Given the description of an element on the screen output the (x, y) to click on. 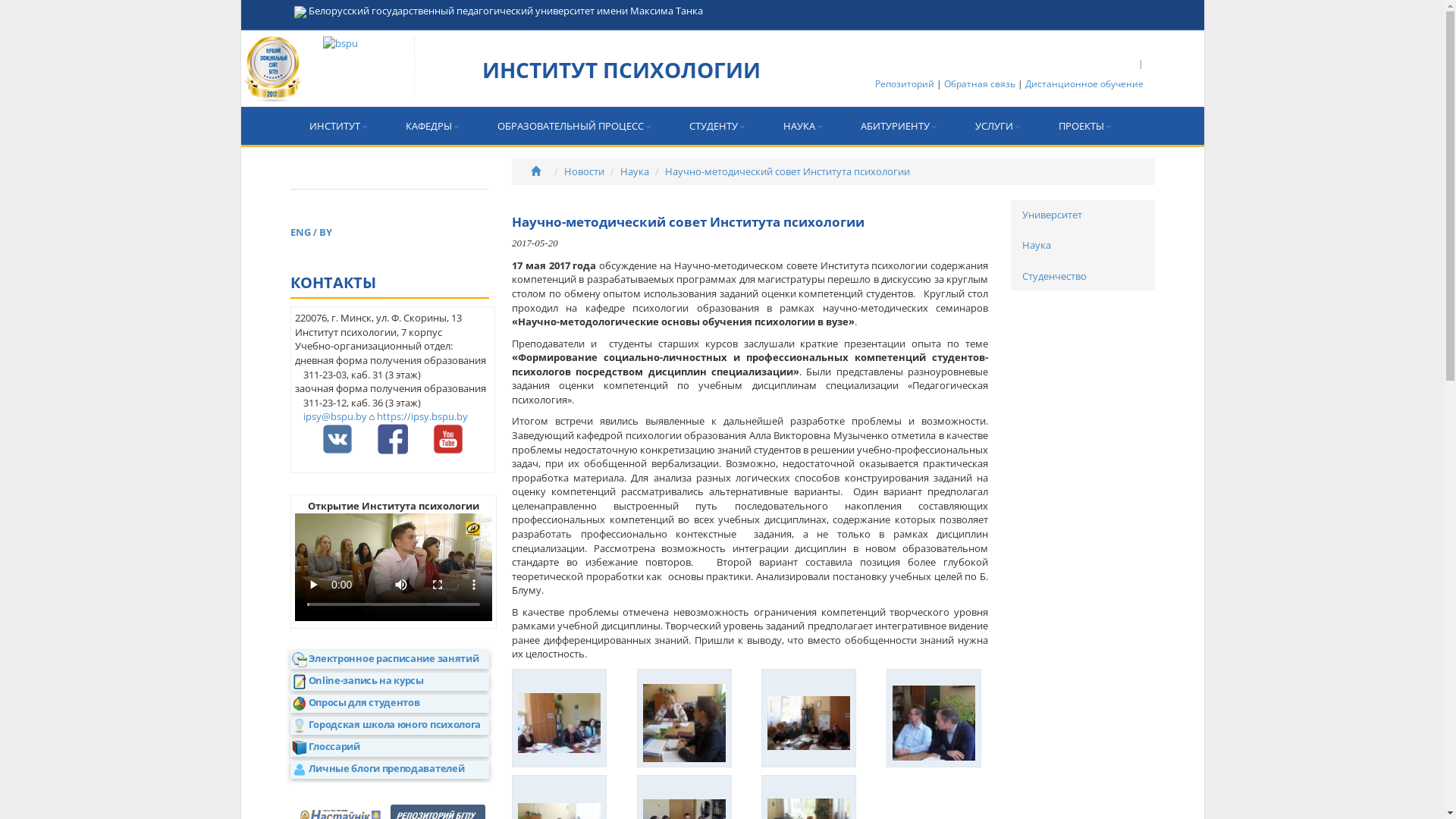
https://ipsy.bspu.by Element type: text (421, 416)
| Element type: text (1139, 62)
ipsy@bspu.by Element type: text (335, 416)
BY Element type: text (324, 231)
ENG Element type: text (300, 231)
